Given the description of an element on the screen output the (x, y) to click on. 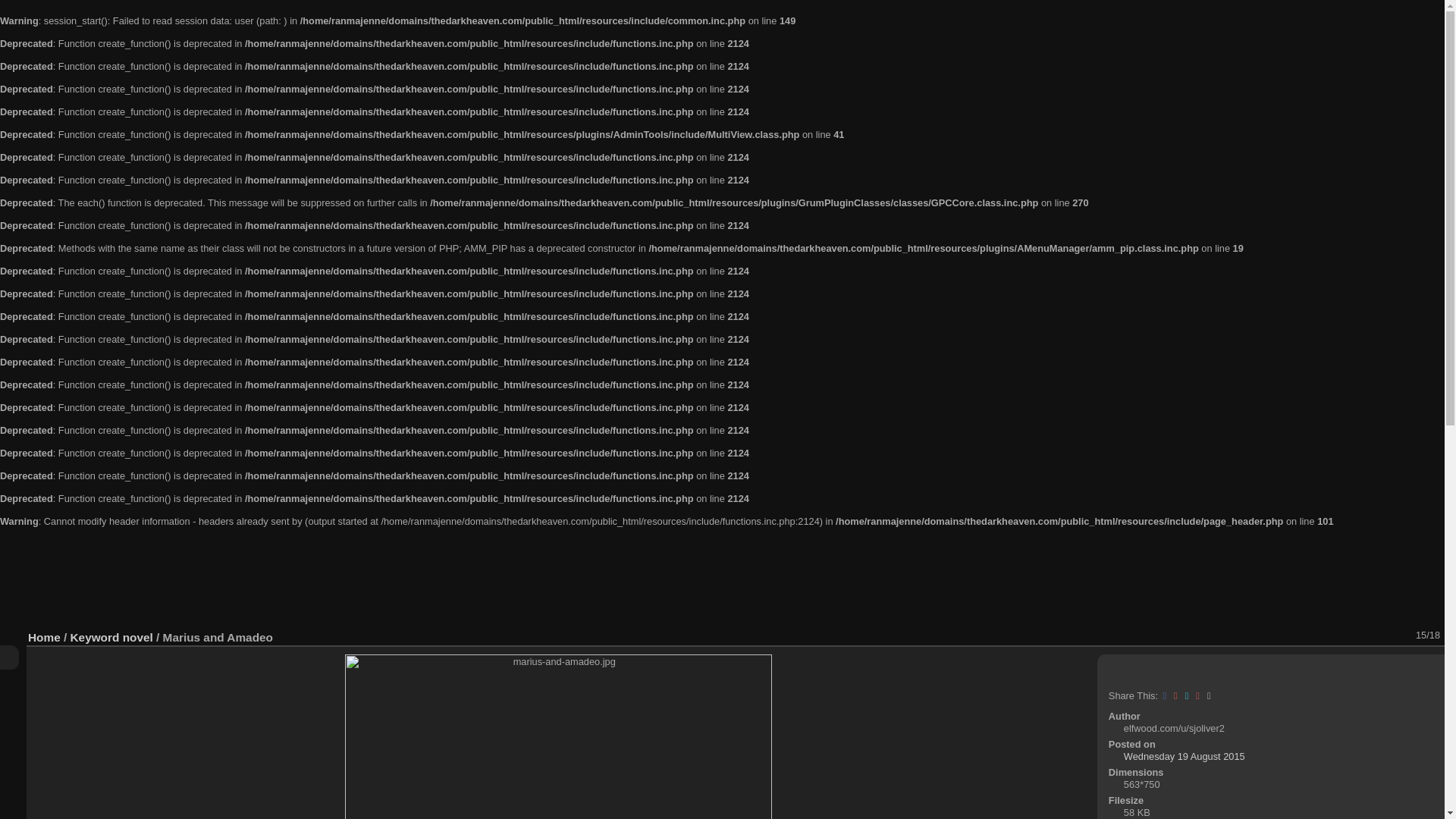
Home (44, 636)
Keyword (94, 636)
novel (137, 636)
